Given the description of an element on the screen output the (x, y) to click on. 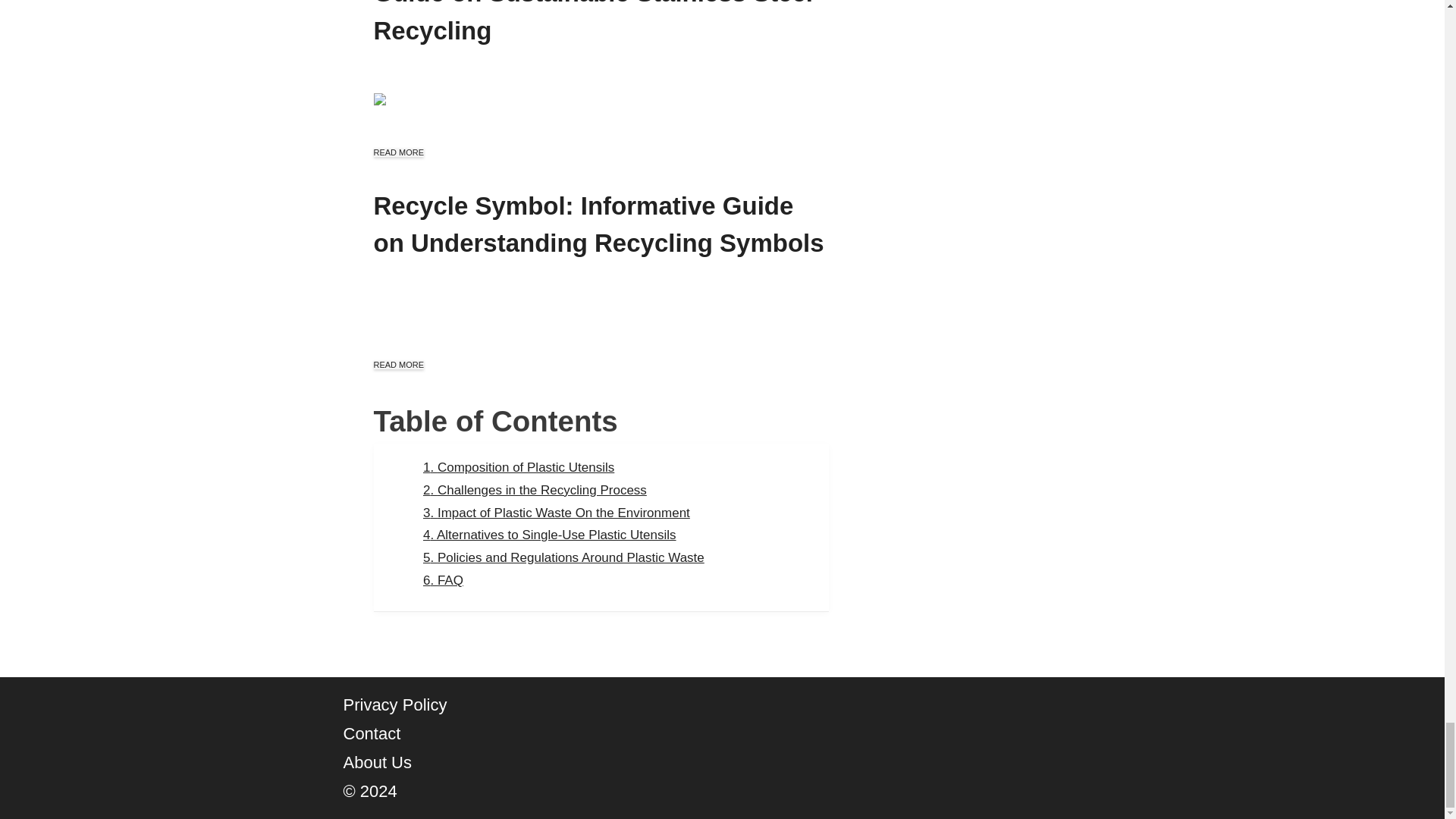
Challenges in the Recycling Process (534, 490)
Composition of Plastic Utensils (518, 467)
READ MORE (397, 152)
Impact of Plastic Waste On the Environment (556, 512)
Alternatives to Single-Use Plastic Utensils (550, 534)
Policies and Regulations Around Plastic Waste (563, 557)
READ MORE (397, 364)
FAQ (443, 580)
